Given the description of an element on the screen output the (x, y) to click on. 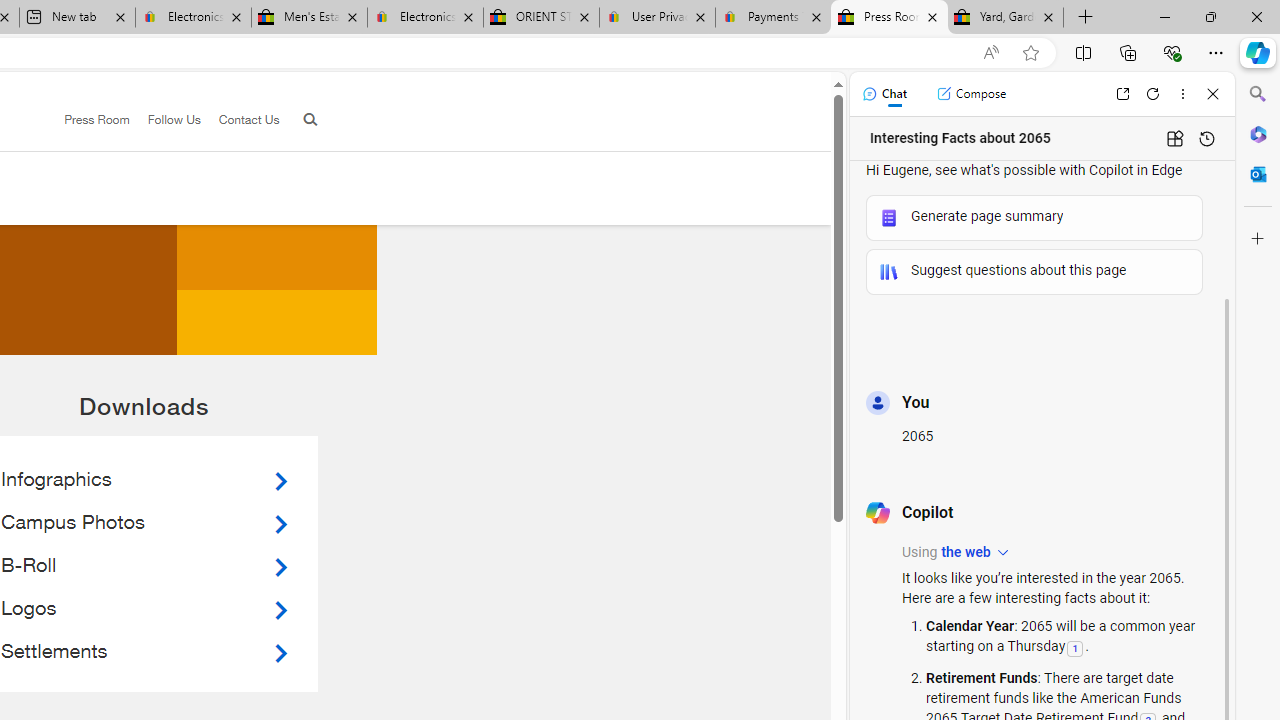
Press Room (88, 120)
